Given the description of an element on the screen output the (x, y) to click on. 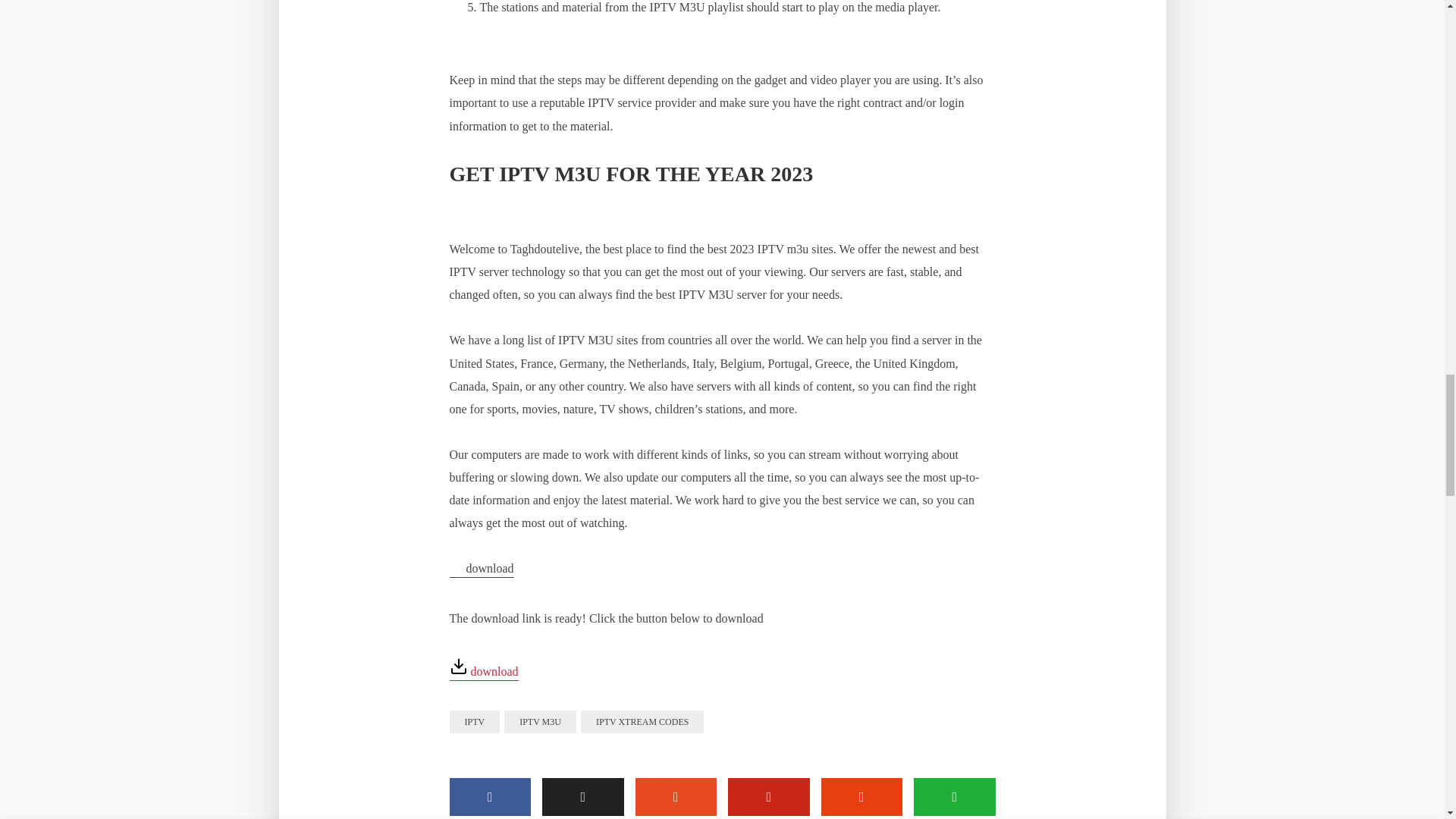
download (483, 672)
IPTV (473, 721)
IPTV XTREAM CODES (641, 721)
IPTV M3U (539, 721)
download (480, 569)
